Given the description of an element on the screen output the (x, y) to click on. 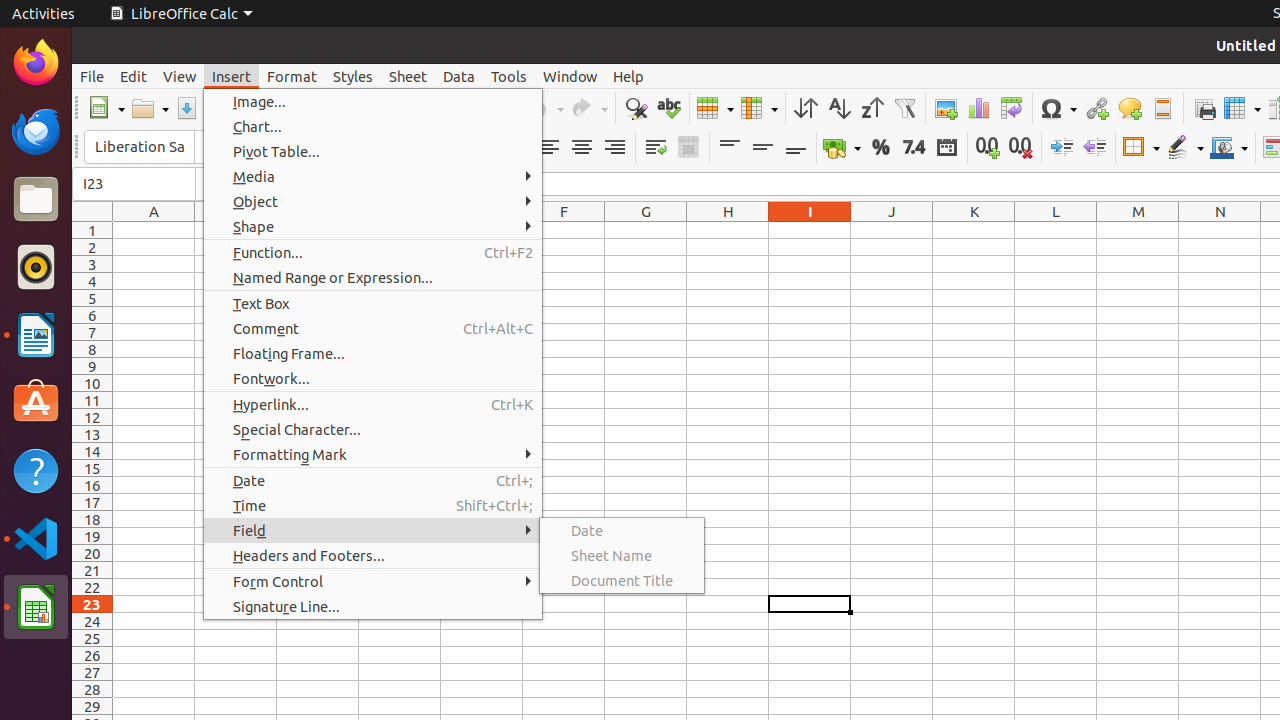
Comment Element type: push-button (1129, 108)
Number Element type: push-button (913, 147)
Align Bottom Element type: push-button (795, 147)
M1 Element type: table-cell (1138, 230)
